Given the description of an element on the screen output the (x, y) to click on. 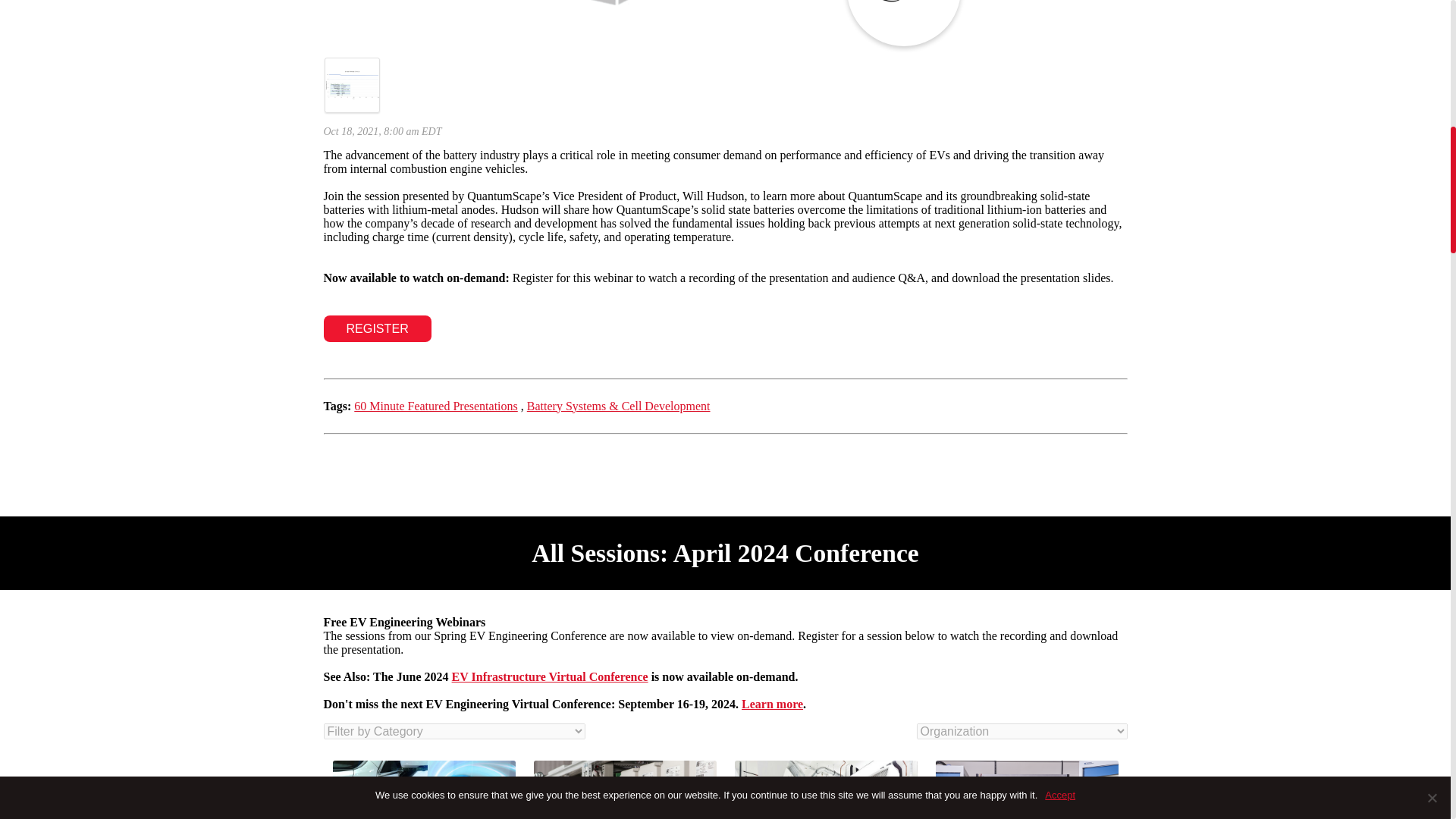
Power Electronics For Battery Testing: Powering Up (625, 789)
Register (376, 328)
Energy Optimization Of Battery Testing Laboratories (825, 789)
